Given the description of an element on the screen output the (x, y) to click on. 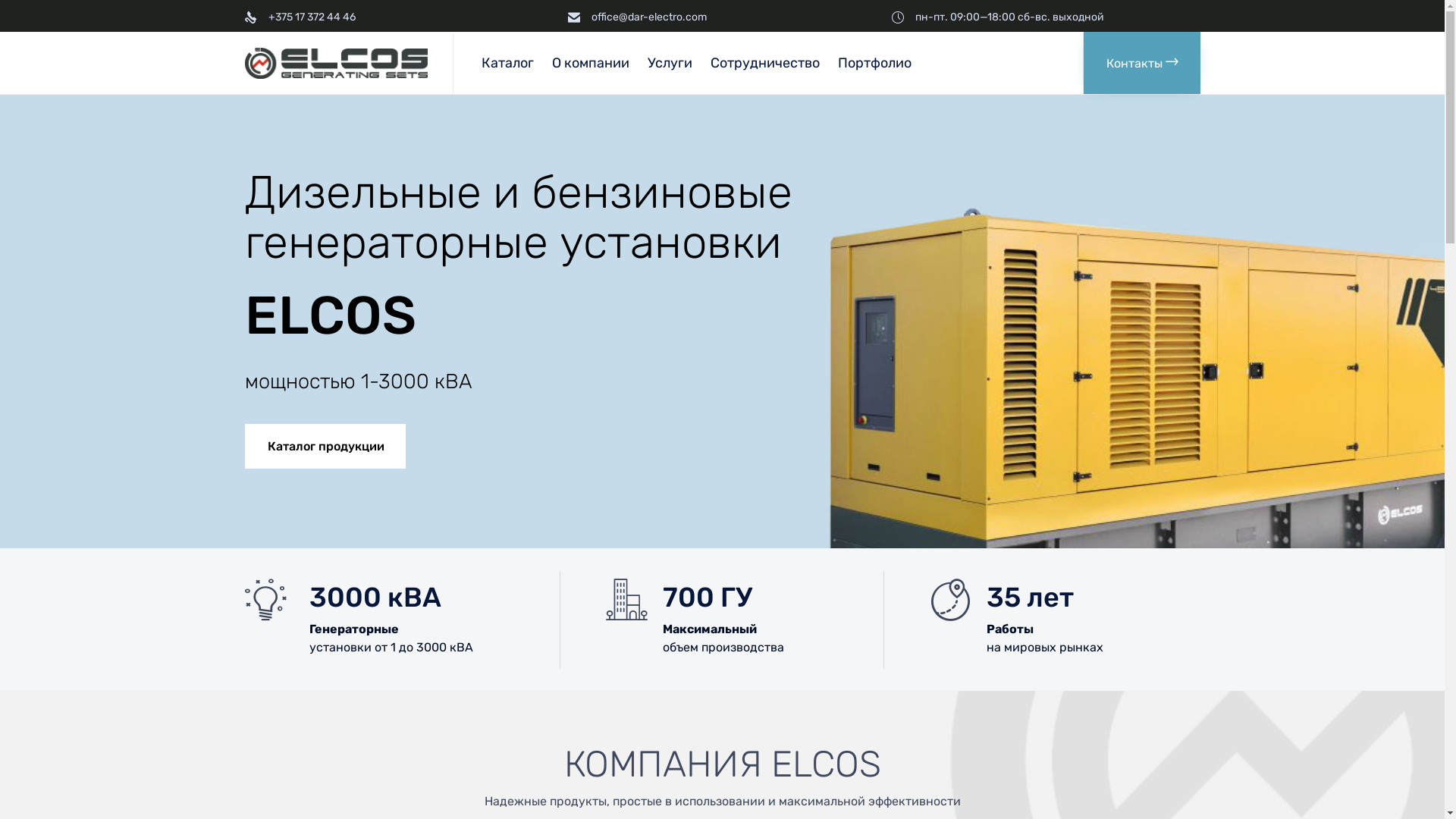
office@dar-electro.com Element type: text (648, 16)
Skip to content Element type: text (1081, 31)
